Given the description of an element on the screen output the (x, y) to click on. 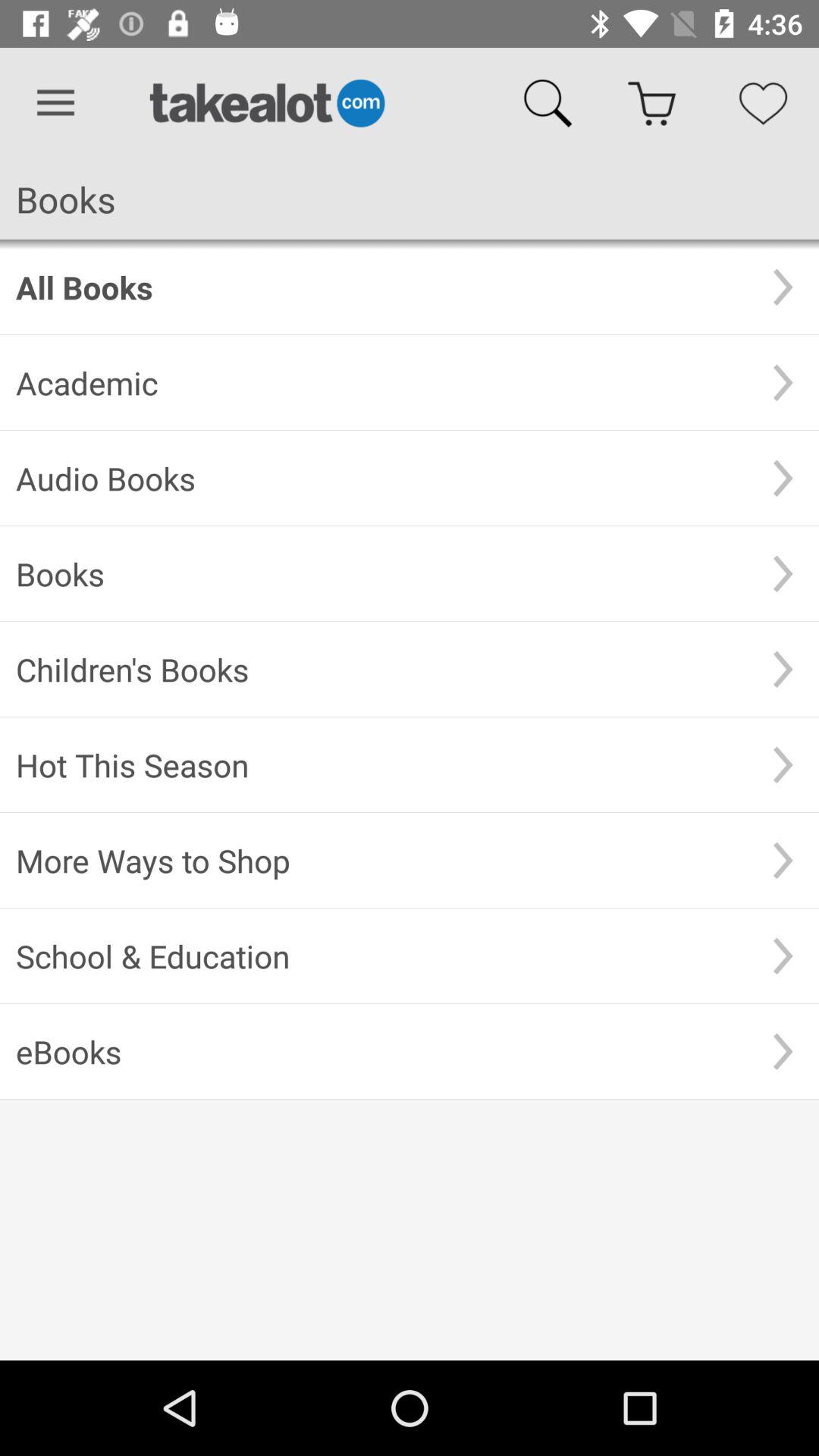
jump to the all books item (381, 286)
